Given the description of an element on the screen output the (x, y) to click on. 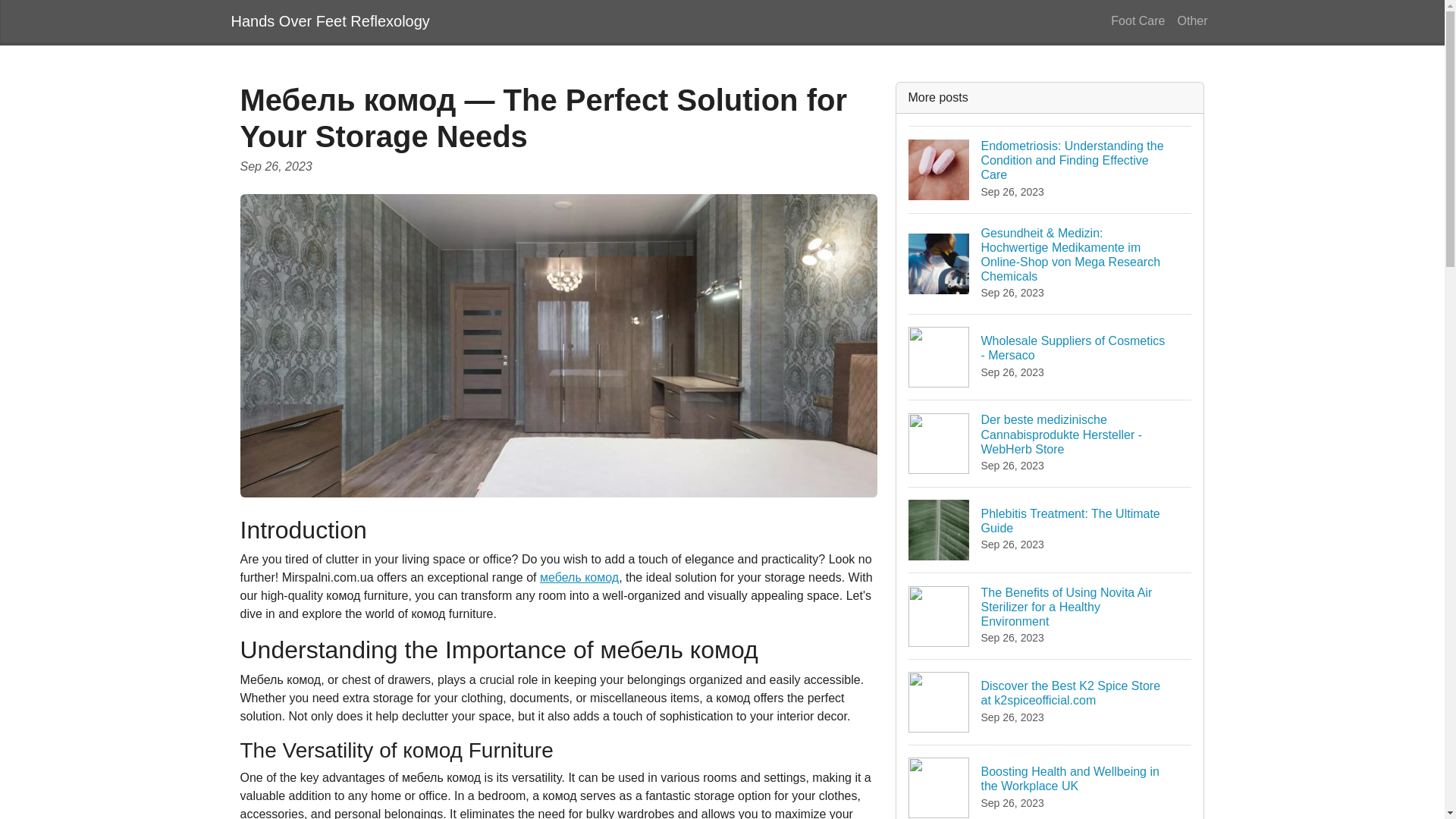
Other (1191, 20)
Hands Over Feet Reflexology (1050, 529)
Foot Care (329, 20)
